Given the description of an element on the screen output the (x, y) to click on. 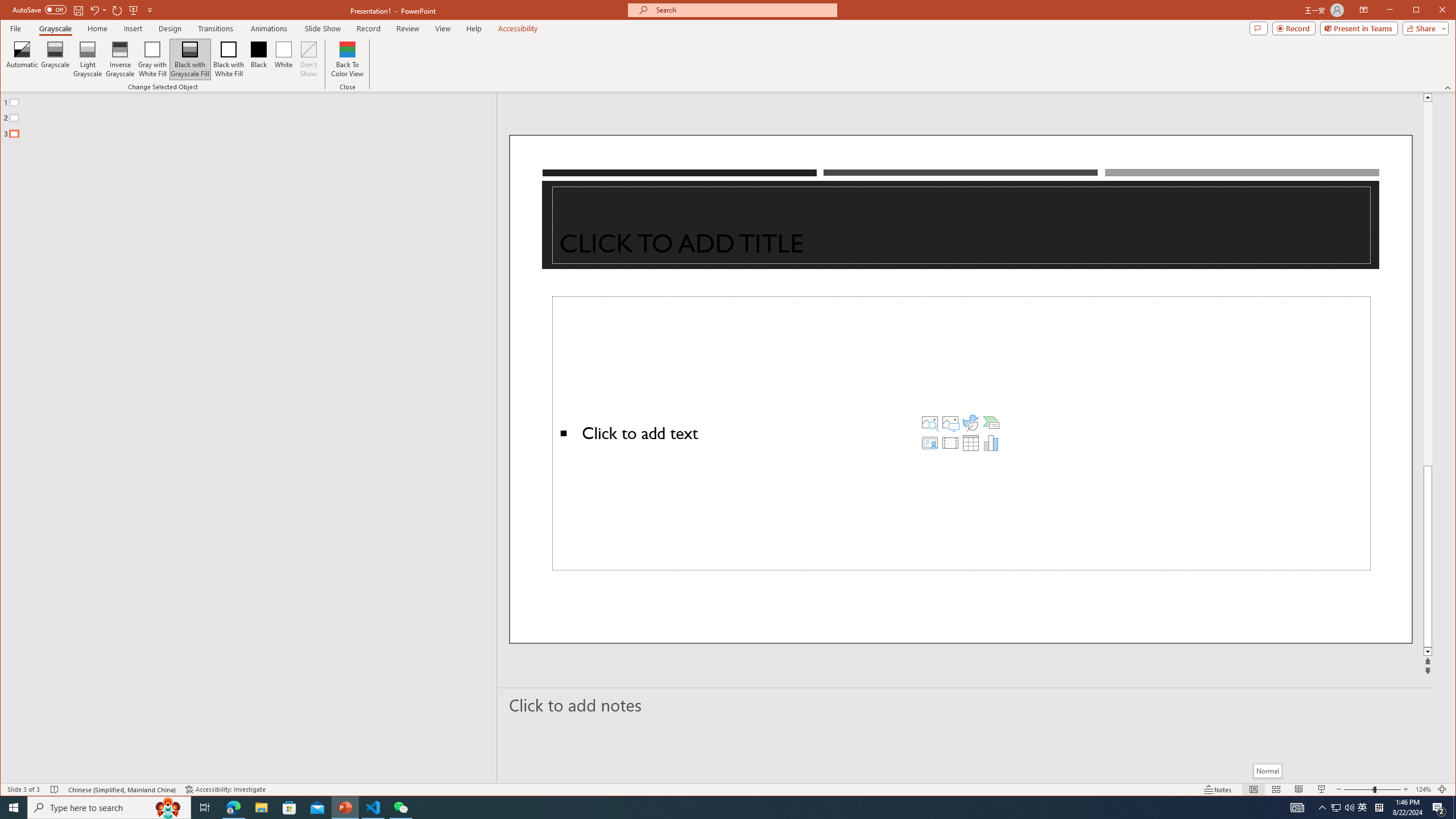
Light Grayscale (87, 59)
Automatic (22, 59)
Gray with White Fill (152, 59)
White (283, 59)
